Given the description of an element on the screen output the (x, y) to click on. 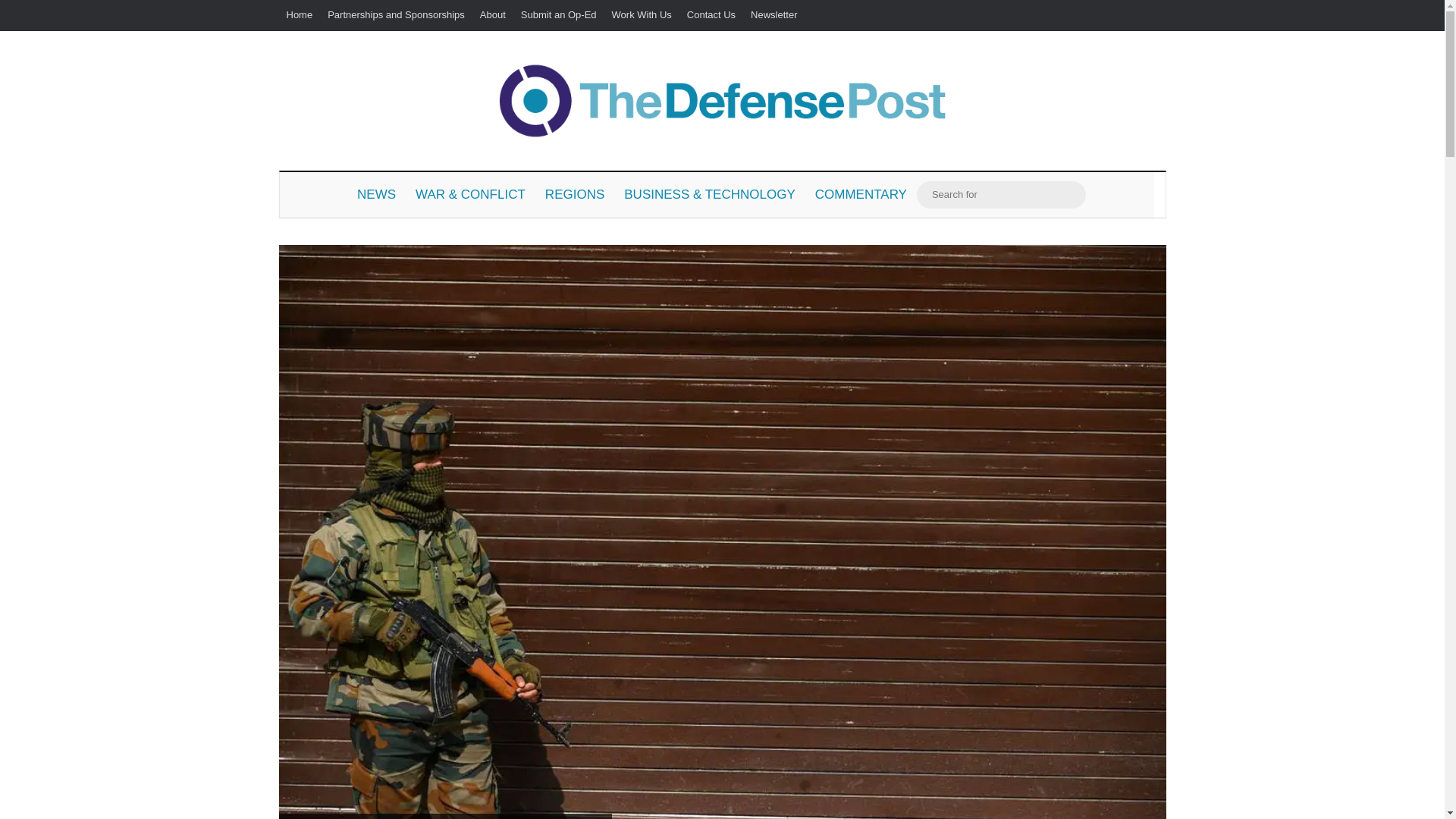
Contact Us (710, 15)
NEWS (376, 194)
Search for (1070, 194)
Submit an Op-Ed (558, 15)
About (492, 15)
COMMENTARY (861, 194)
Work With Us (641, 15)
Global defense news, analysis and opinion (722, 100)
Newsletter (773, 15)
Home (299, 15)
